Given the description of an element on the screen output the (x, y) to click on. 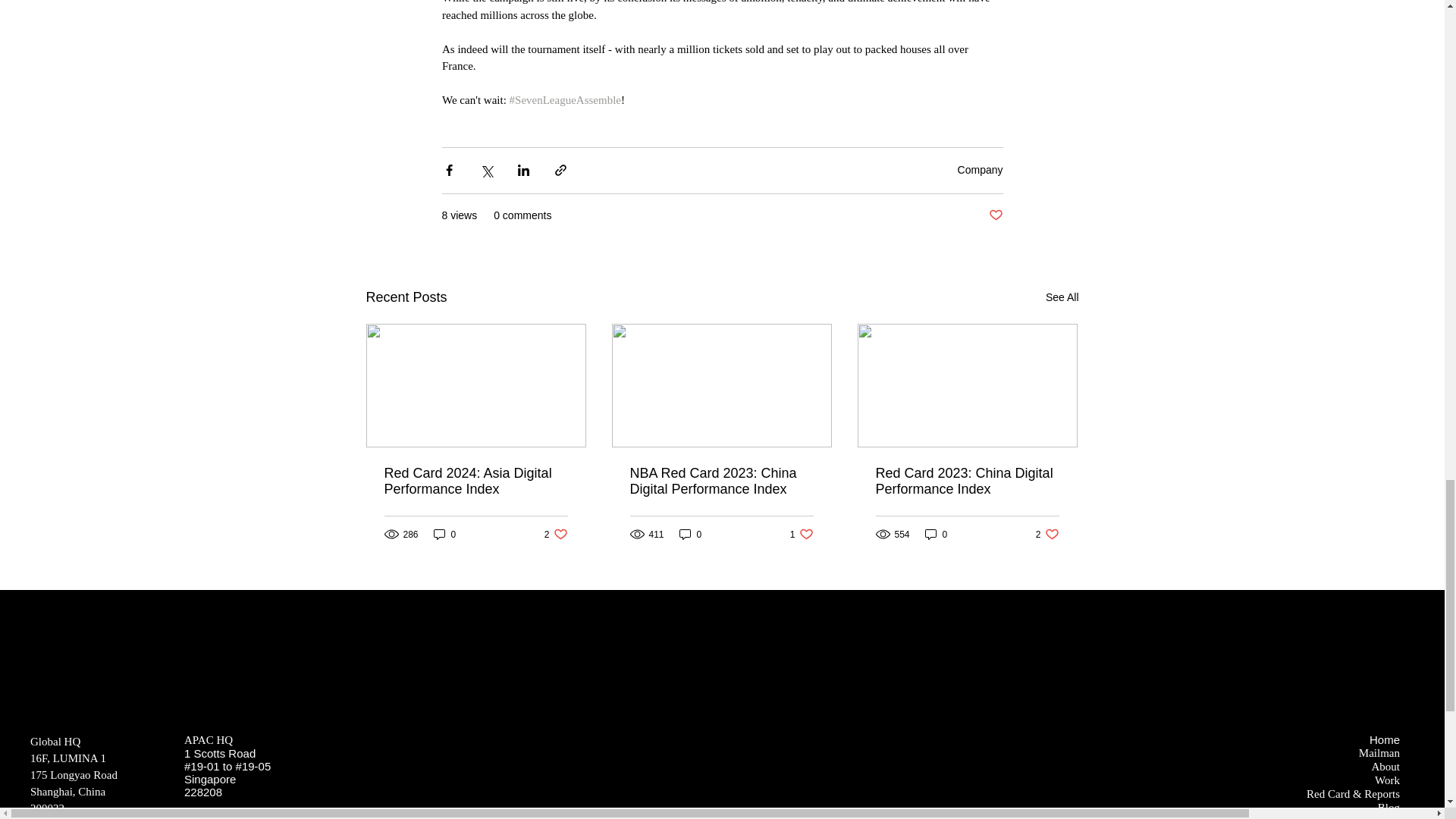
Post not marked as liked (995, 215)
Company (980, 169)
0 (445, 534)
Red Card 2024: Asia Digital Performance Index (475, 481)
See All (1061, 297)
